Given the description of an element on the screen output the (x, y) to click on. 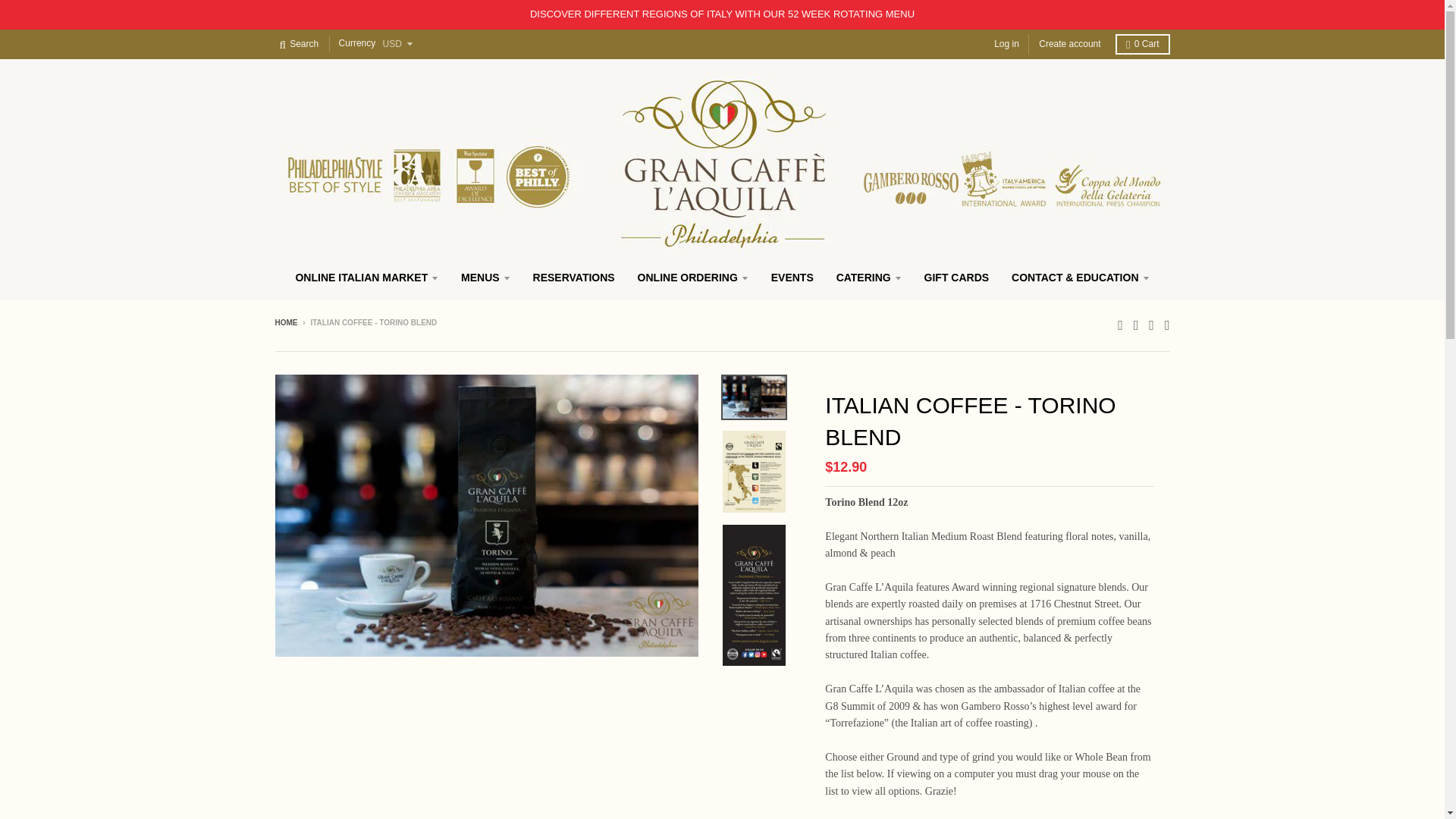
Create account (1069, 44)
Back to the frontpage (286, 322)
GranCaffeLAquila on Youtube (1167, 323)
Log in (1006, 44)
ONLINE ITALIAN MARKET (366, 277)
0 Cart (1142, 44)
GranCaffeLAquila on Facebook (1136, 323)
Search (299, 44)
GranCaffeLAquila on Instagram (1151, 323)
GranCaffeLAquila on Twitter (1120, 323)
